Given the description of an element on the screen output the (x, y) to click on. 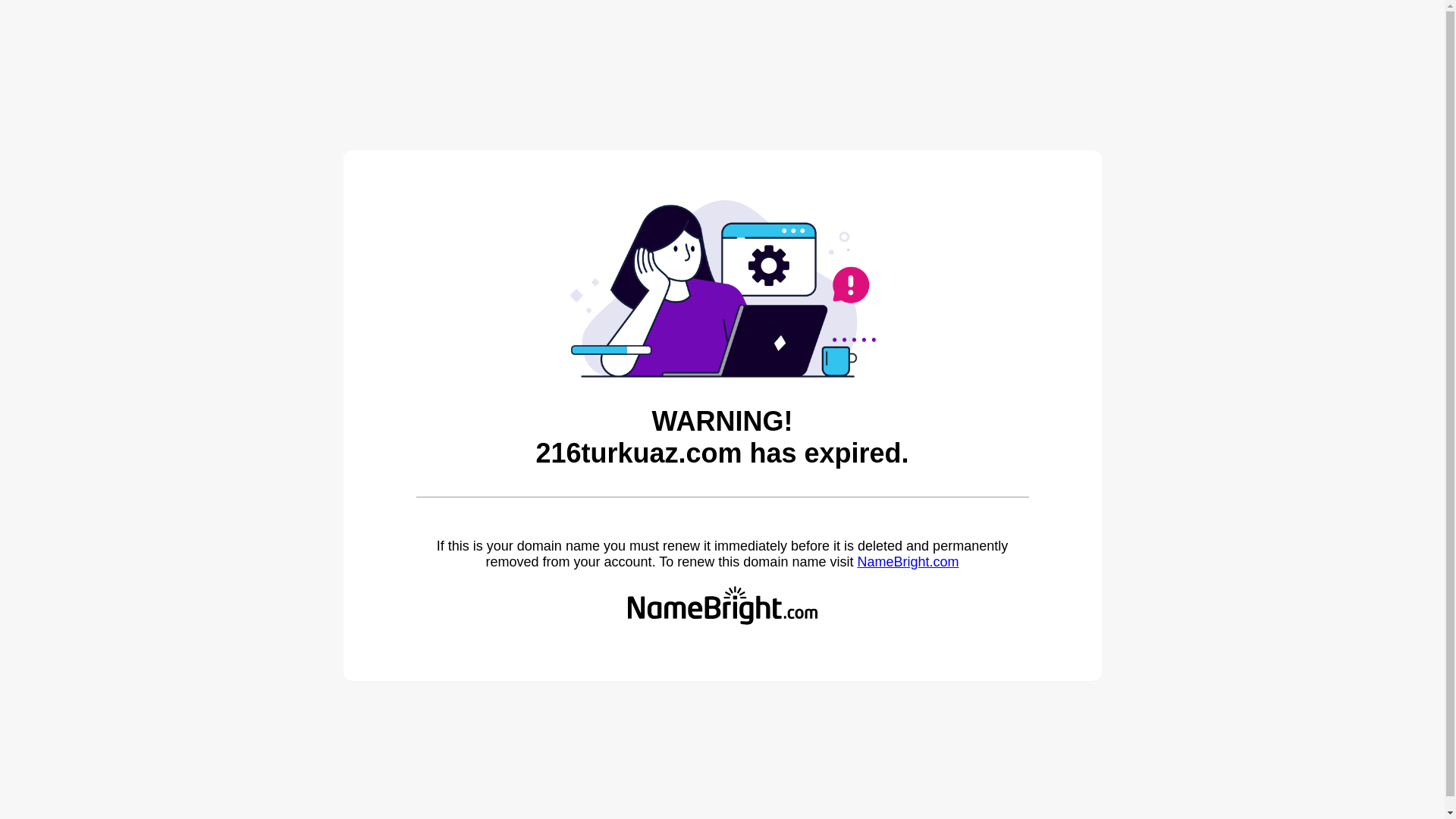
NameBright.com Element type: text (907, 561)
